Given the description of an element on the screen output the (x, y) to click on. 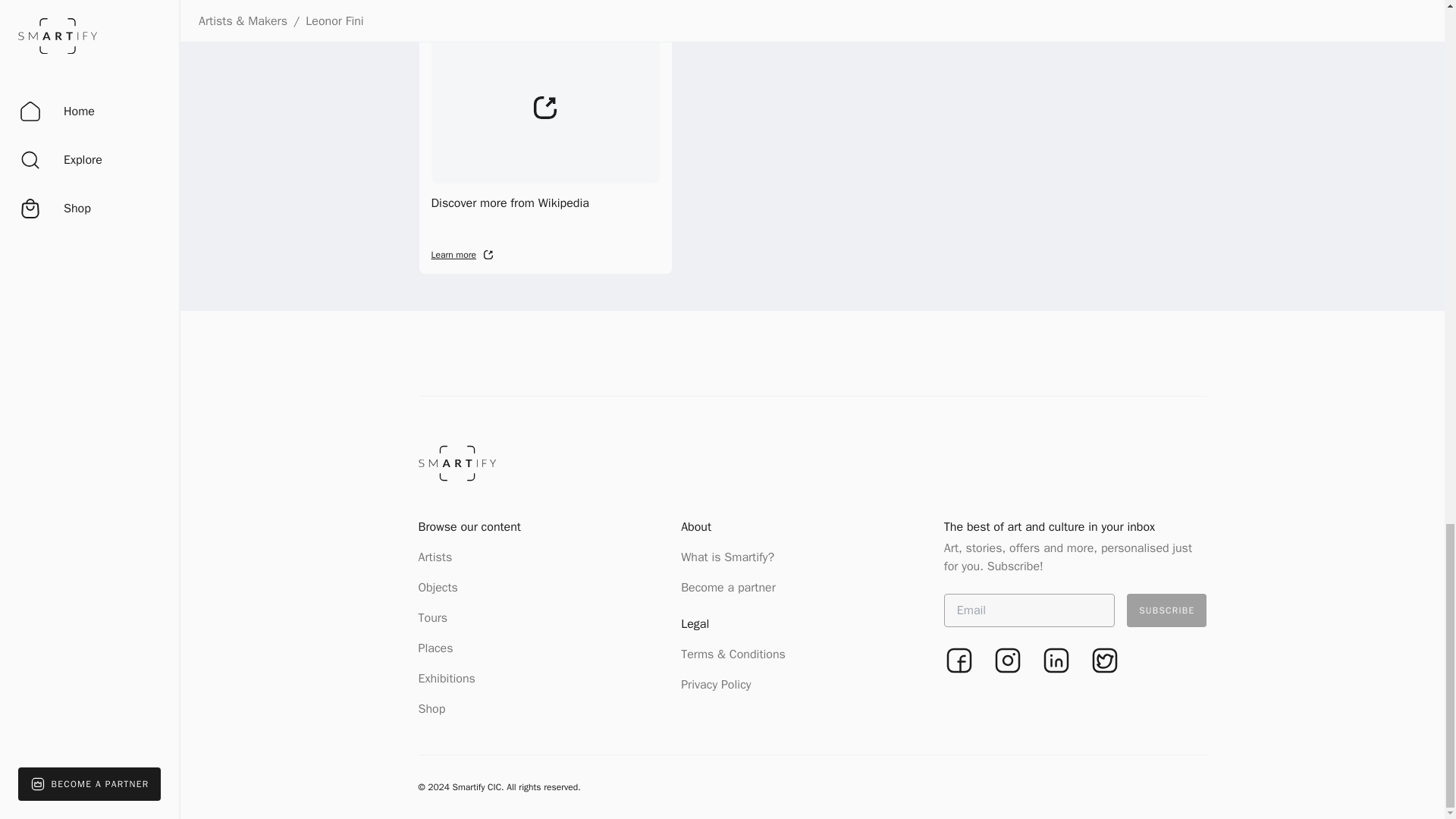
Tours (433, 617)
Privacy Policy (716, 684)
Objects (438, 587)
Artists (435, 557)
Shop (432, 708)
Places (545, 146)
Smartify on LinkedIn (435, 648)
Smartify on Facebook (1056, 660)
Exhibitions (958, 660)
What is Smartify? (447, 678)
Smartify on Twitter (727, 557)
SUBSCRIBE (1104, 660)
Become a partner (1166, 610)
Smartify on Instagram (728, 587)
